Given the description of an element on the screen output the (x, y) to click on. 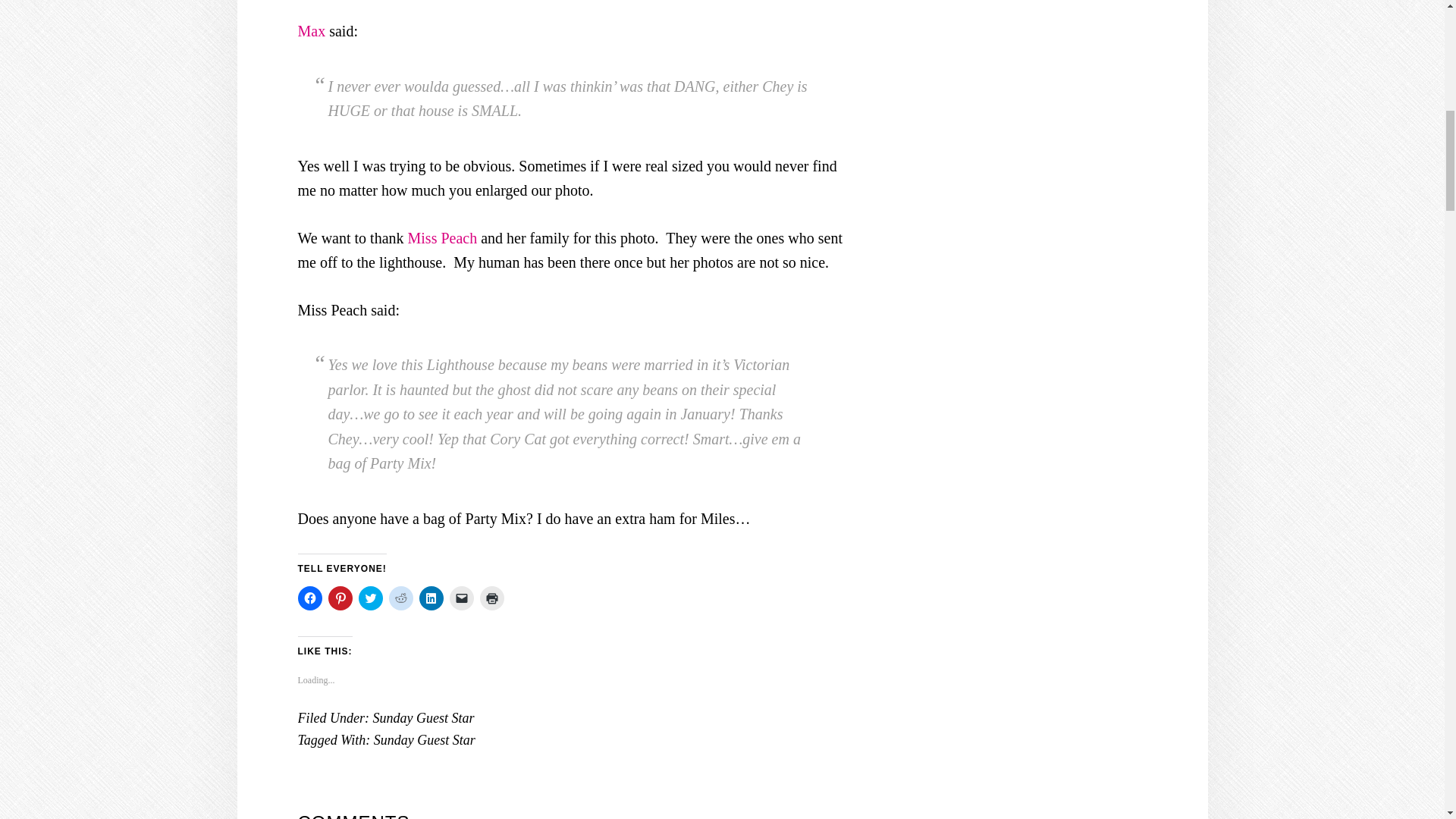
Click to share on Twitter (369, 598)
Click to share on Pinterest (339, 598)
Click to email a link to a friend (460, 598)
Click to print (491, 598)
Click to share on LinkedIn (430, 598)
Click to share on Reddit (400, 598)
Click to share on Facebook (309, 598)
